Given the description of an element on the screen output the (x, y) to click on. 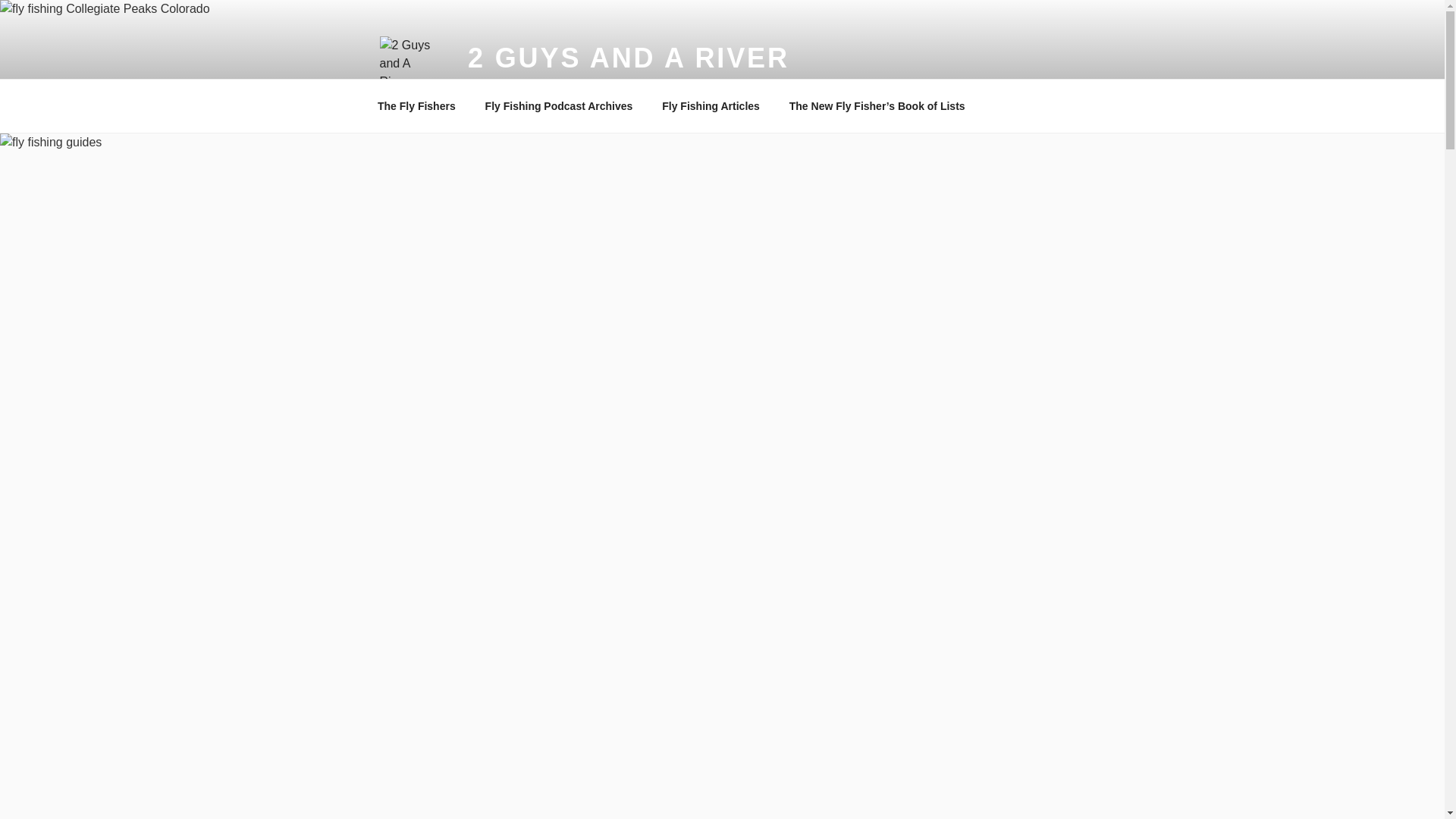
Fly Fishing Podcast Archives (558, 106)
The Fly Fishers (416, 106)
Fly Fishing Articles (711, 106)
2 GUYS AND A RIVER (628, 57)
